Given the description of an element on the screen output the (x, y) to click on. 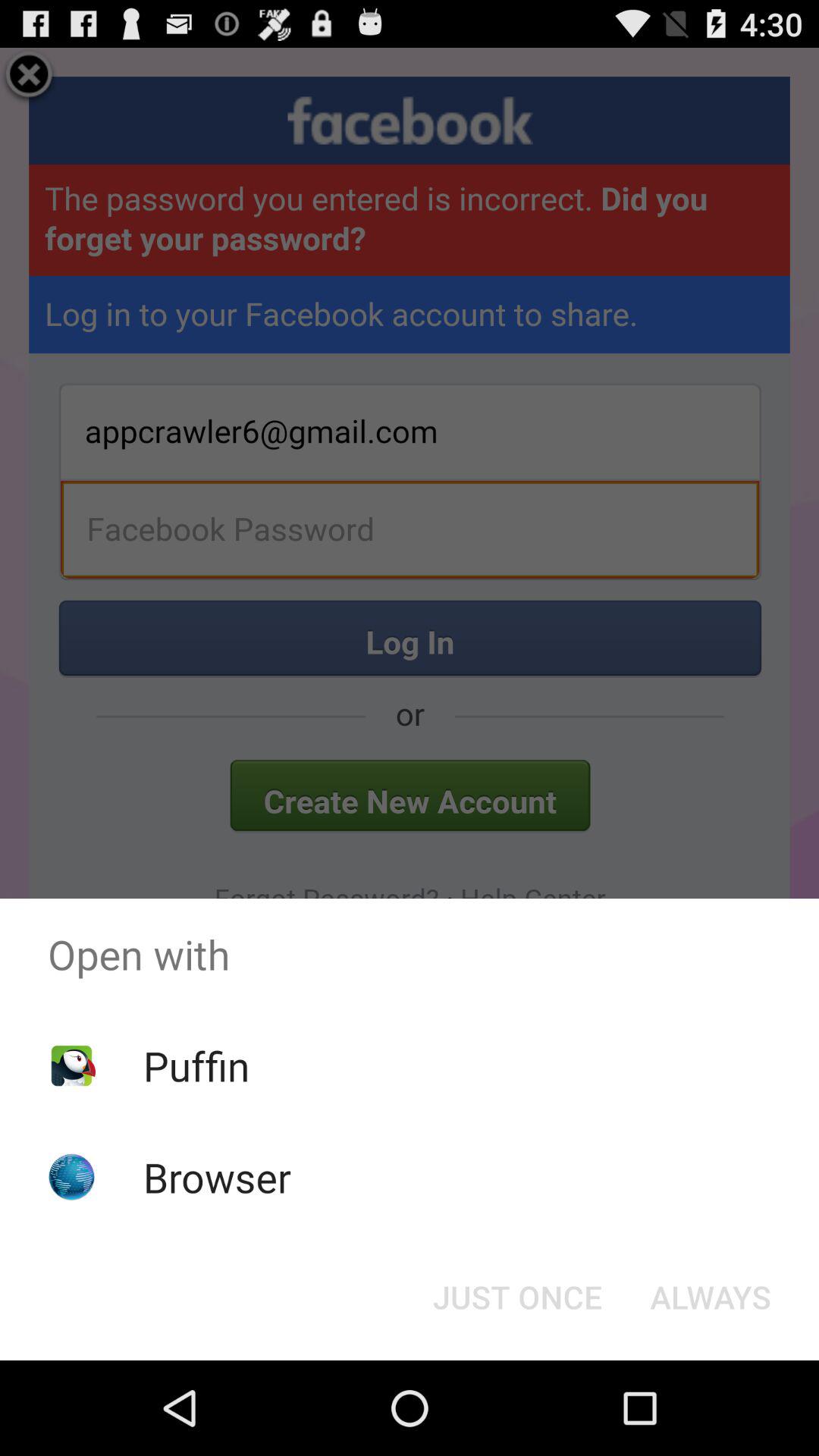
turn off the icon below open with icon (196, 1065)
